Given the description of an element on the screen output the (x, y) to click on. 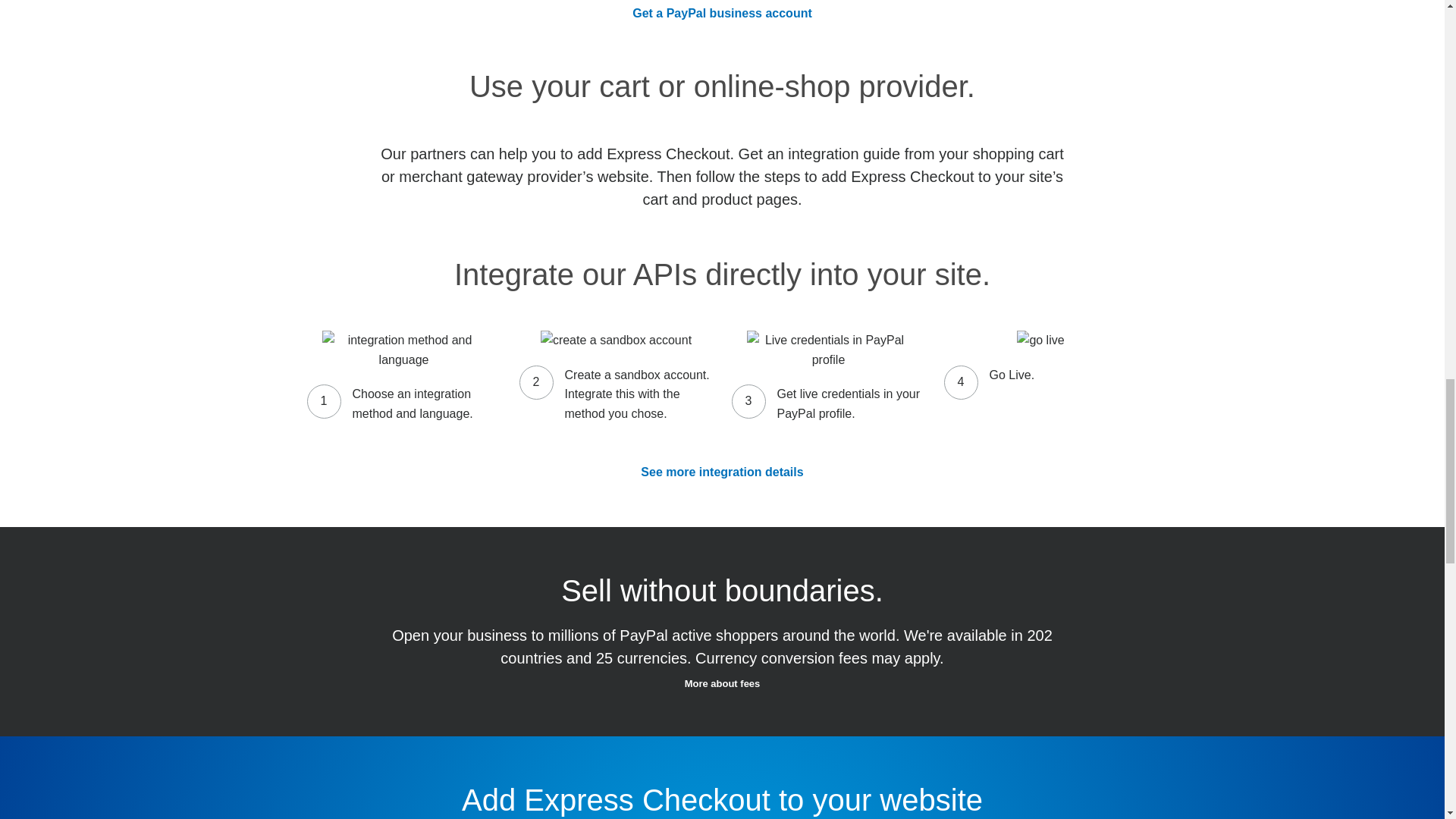
Get a PayPal business account (721, 11)
More about fees (722, 683)
See more integration details (721, 472)
